Given the description of an element on the screen output the (x, y) to click on. 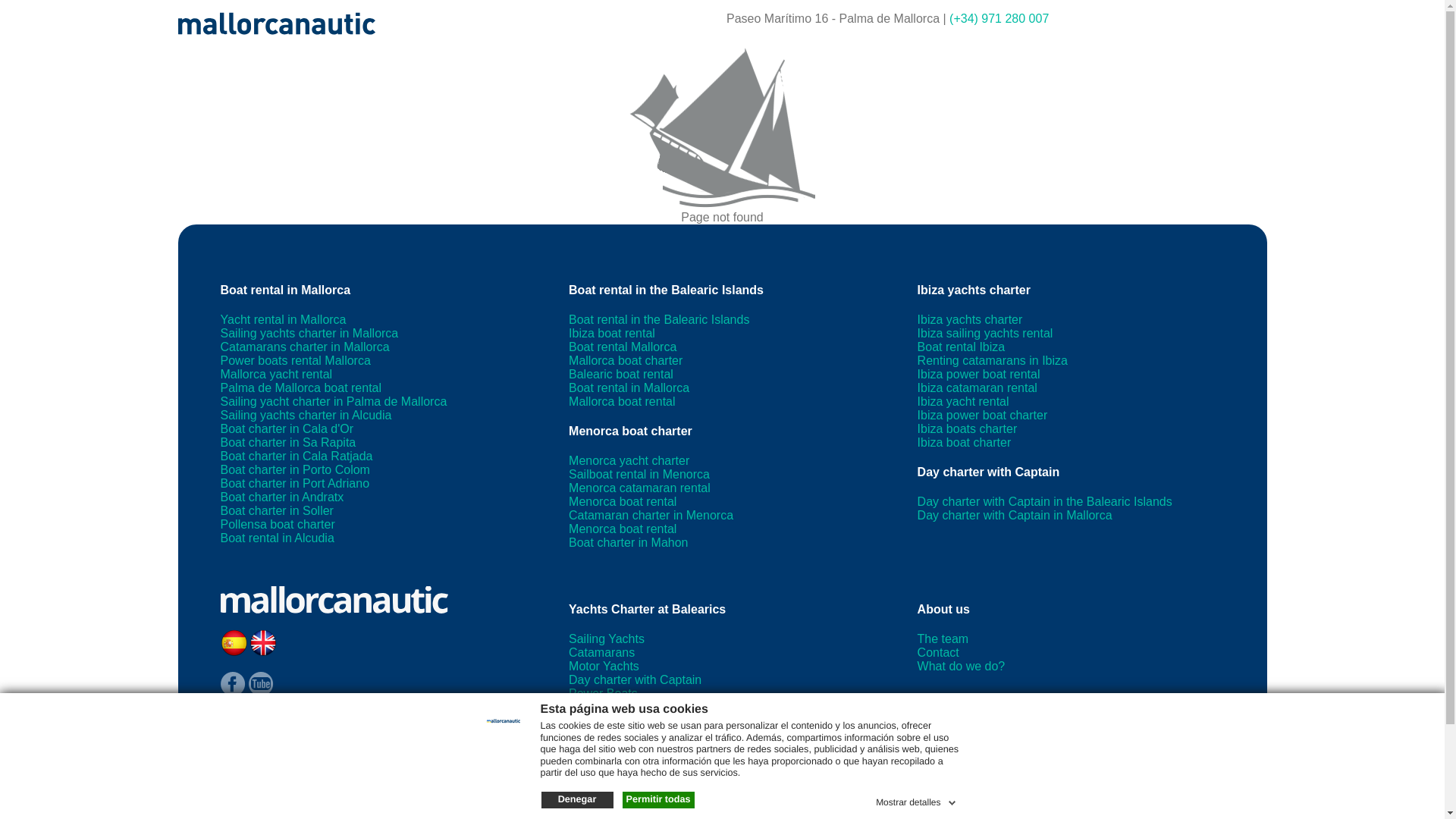
Mostrar detalles (917, 799)
Denegar (576, 799)
Permitir todas (657, 799)
